Given the description of an element on the screen output the (x, y) to click on. 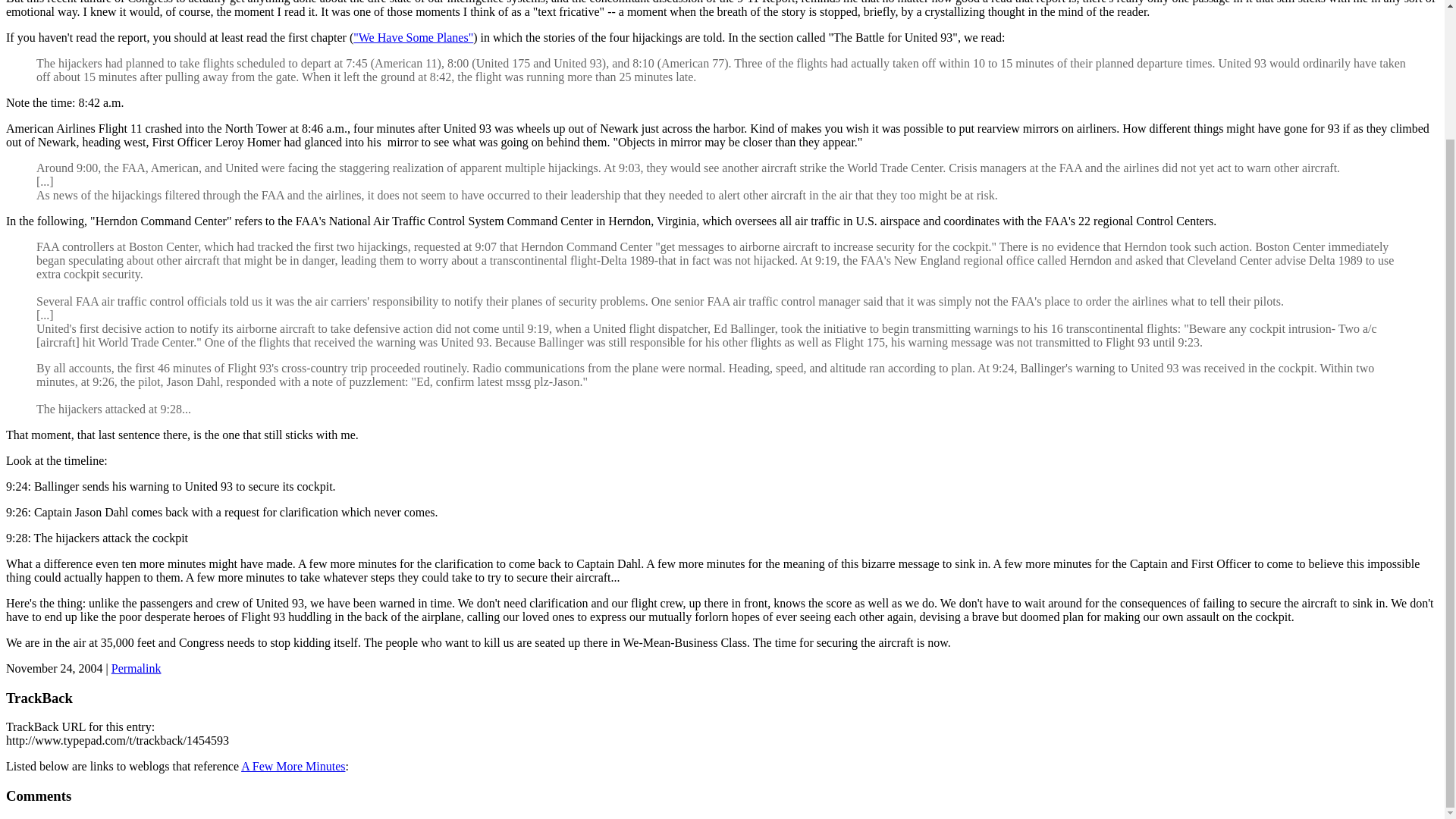
A Few More Minutes (293, 766)
Permalink (136, 667)
"We Have Some Planes" (413, 37)
